Given the description of an element on the screen output the (x, y) to click on. 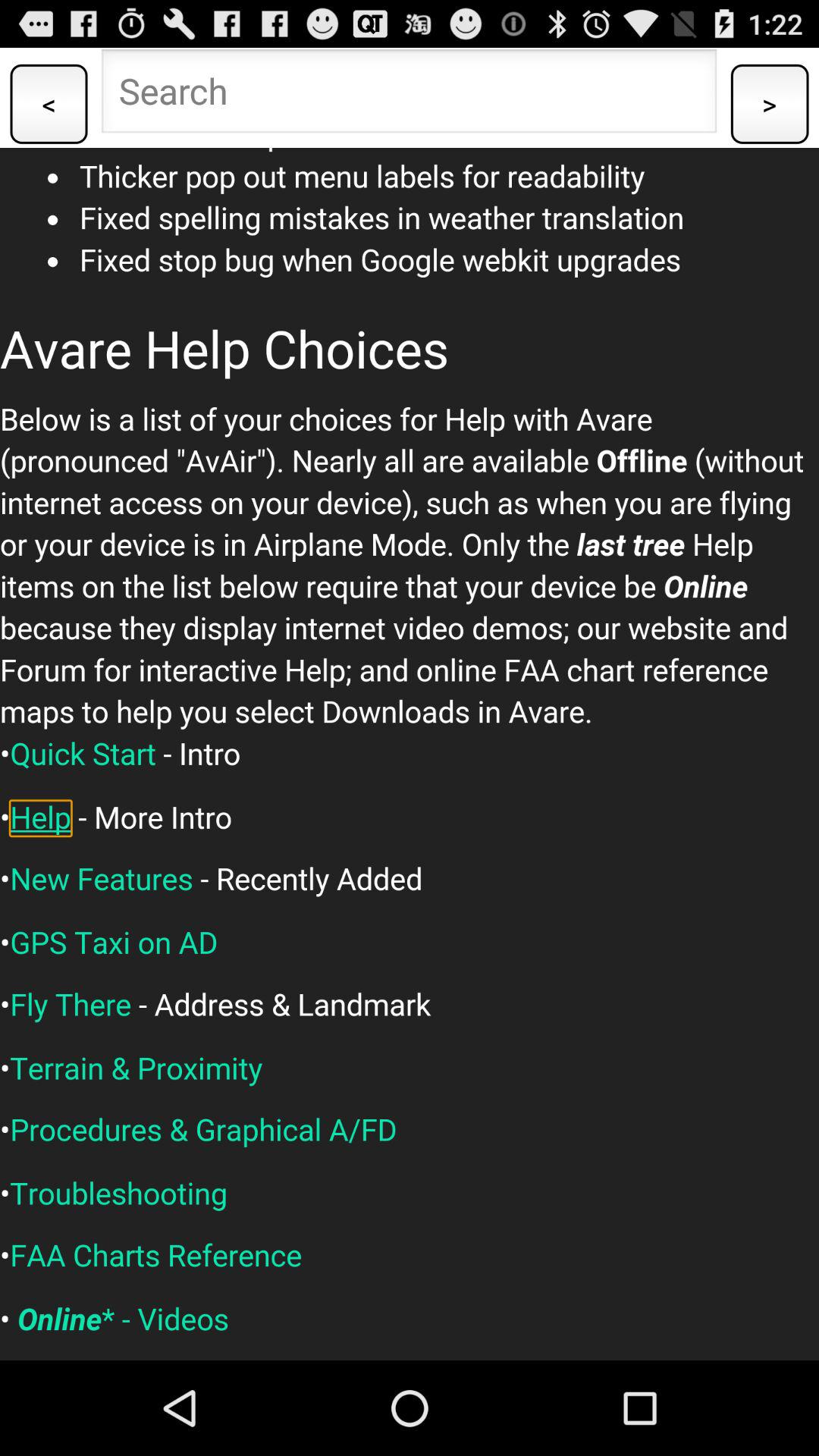
description (409, 753)
